Given the description of an element on the screen output the (x, y) to click on. 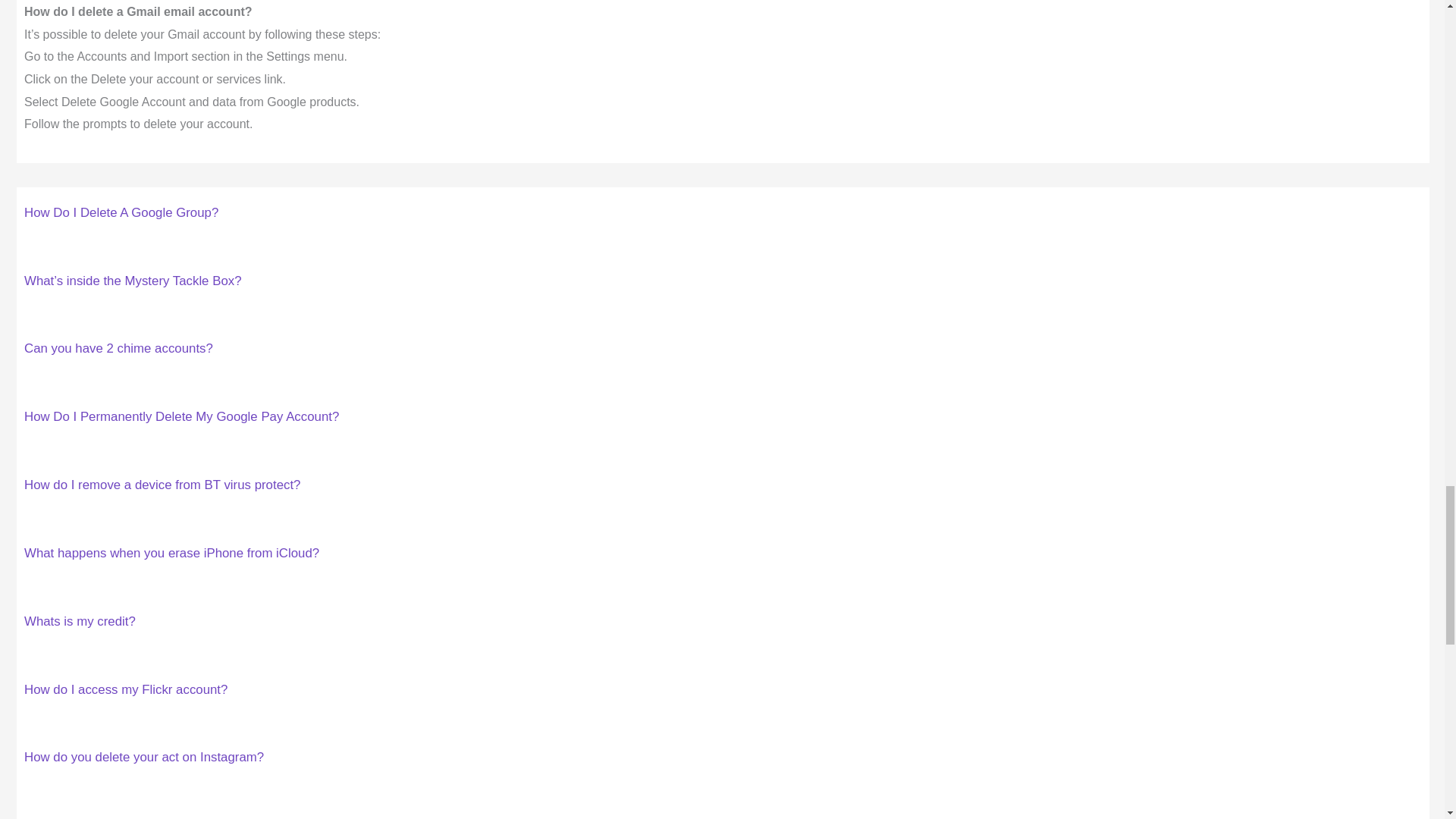
What happens when you erase iPhone from iCloud? (171, 553)
How Do I Delete A Google Group? (121, 212)
How do I remove a device from BT virus protect? (161, 484)
How Do I Permanently Delete My Google Pay Account? (181, 416)
Can you have 2 chime accounts? (118, 348)
How do I access my Flickr account? (125, 689)
Whats is my credit? (79, 621)
How do you delete your act on Instagram? (143, 757)
